Given the description of an element on the screen output the (x, y) to click on. 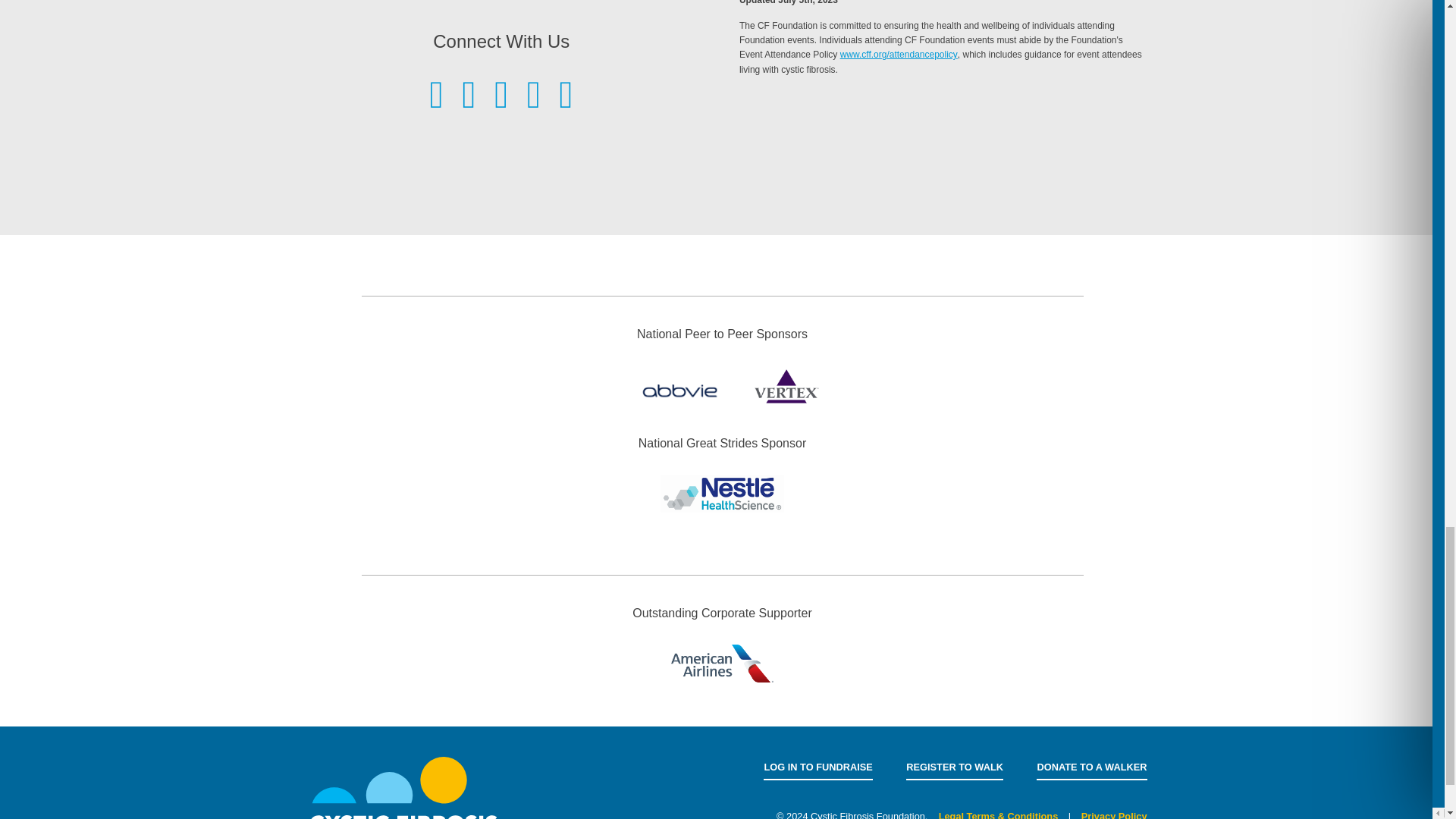
Follow link (899, 54)
Privacy Policy (1114, 814)
REGISTER TO WALK (954, 767)
DONATE TO A WALKER (1091, 767)
LOG IN TO FUNDRAISE (817, 767)
